Given the description of an element on the screen output the (x, y) to click on. 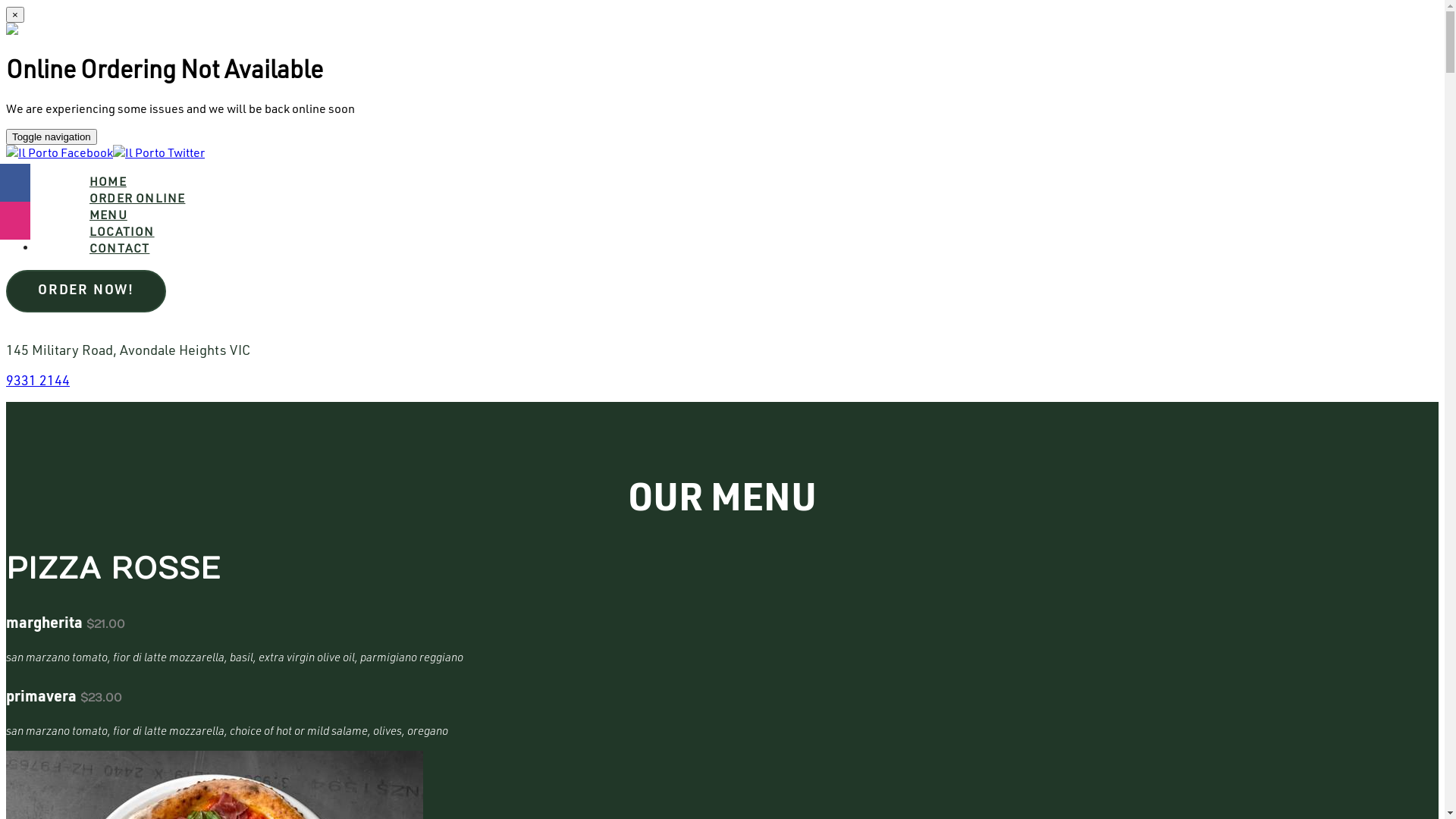
CONTACT Element type: text (119, 247)
ORDER NOW! Element type: text (89, 289)
9331 2144 Element type: text (37, 379)
MENU Element type: text (108, 214)
ORDER NOW! Element type: text (86, 290)
Toggle navigation Element type: text (51, 136)
Share on Facebook Element type: hover (15, 182)
ORDER ONLINE Element type: text (137, 197)
HOME Element type: text (107, 181)
LOCATION Element type: text (121, 231)
